Given the description of an element on the screen output the (x, y) to click on. 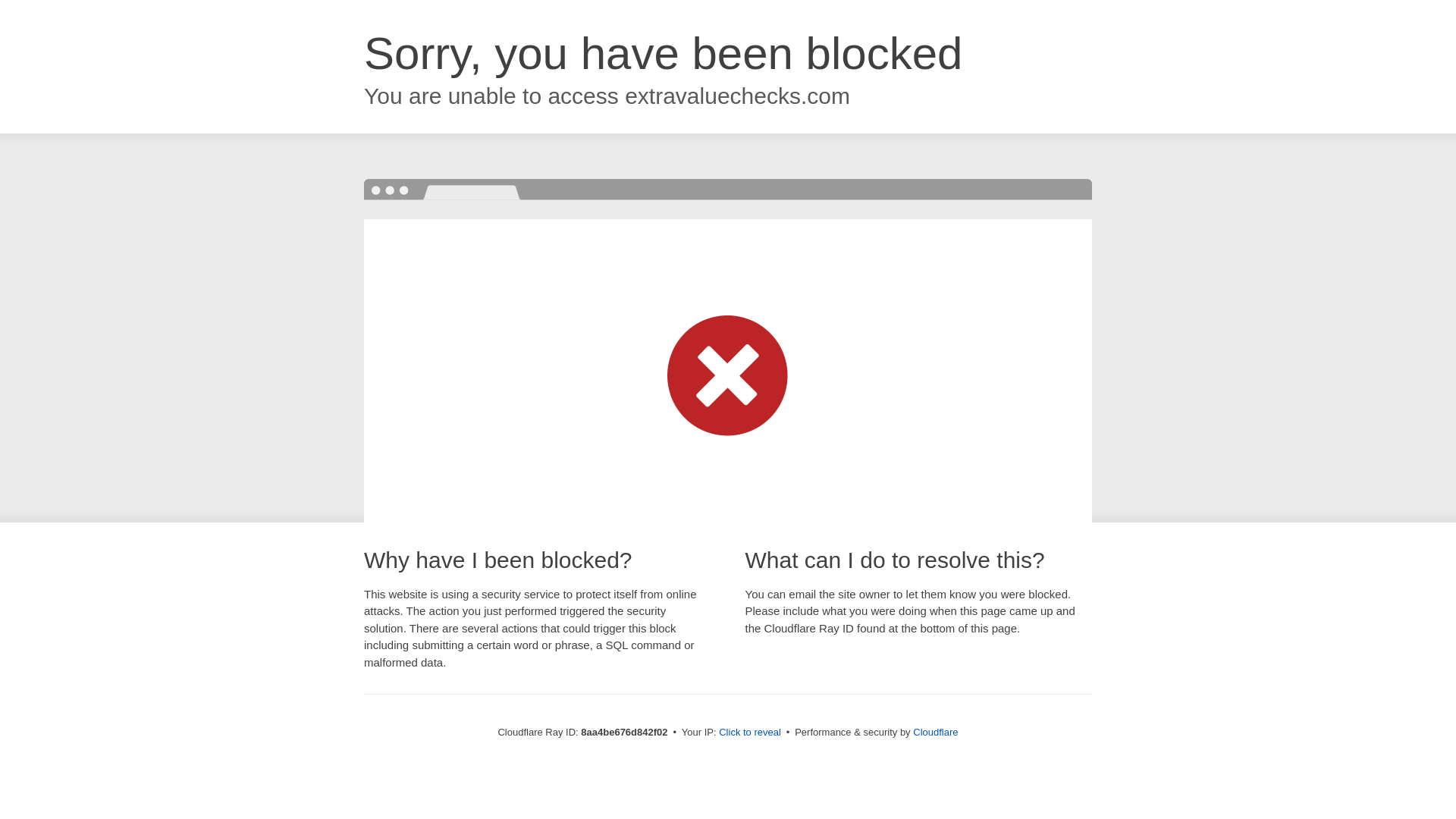
Cloudflare (935, 731)
Click to reveal (749, 732)
